Given the description of an element on the screen output the (x, y) to click on. 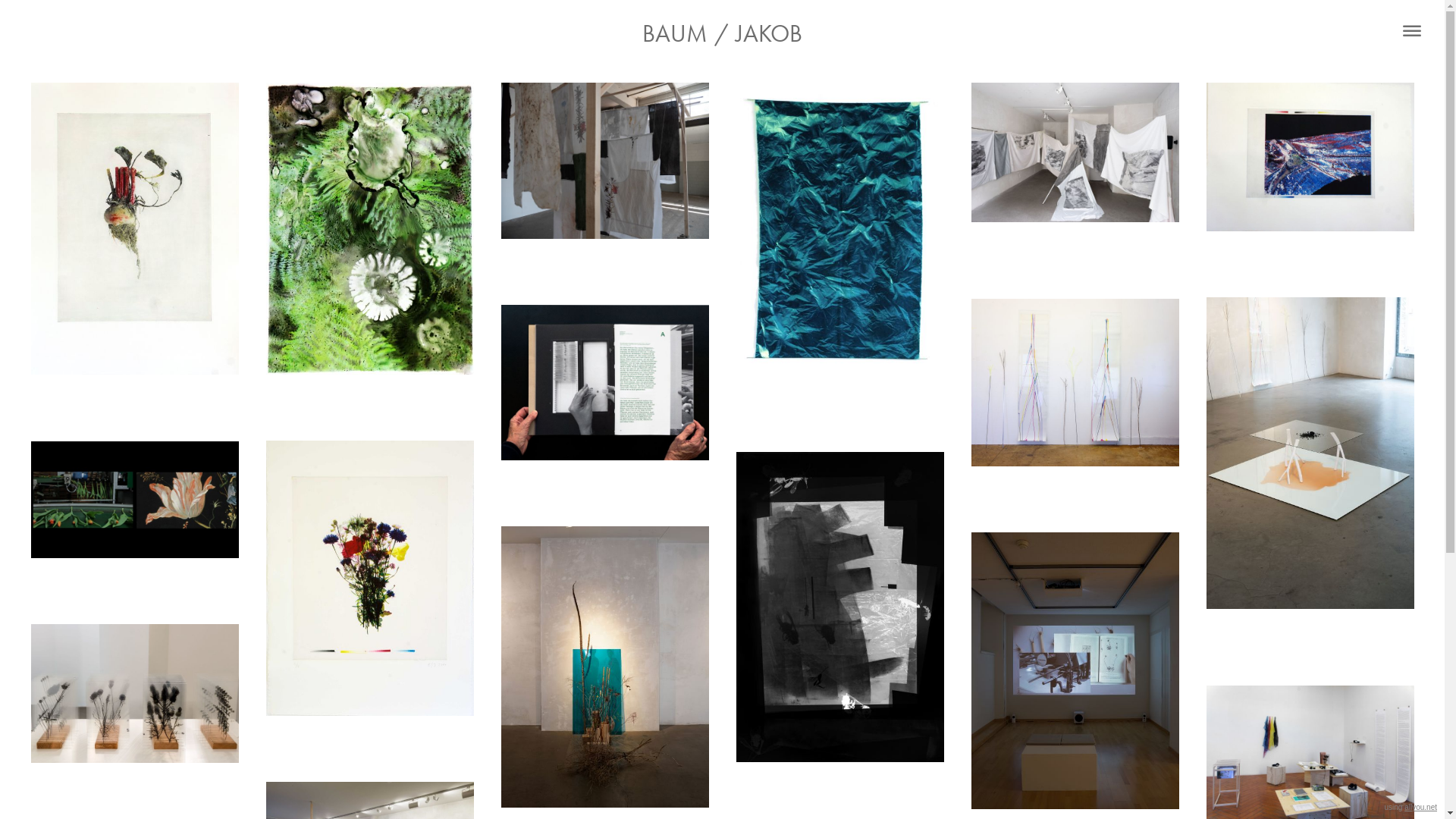
allyou.net Element type: text (1420, 807)
BAUM / JAKOB Element type: text (722, 33)
